Given the description of an element on the screen output the (x, y) to click on. 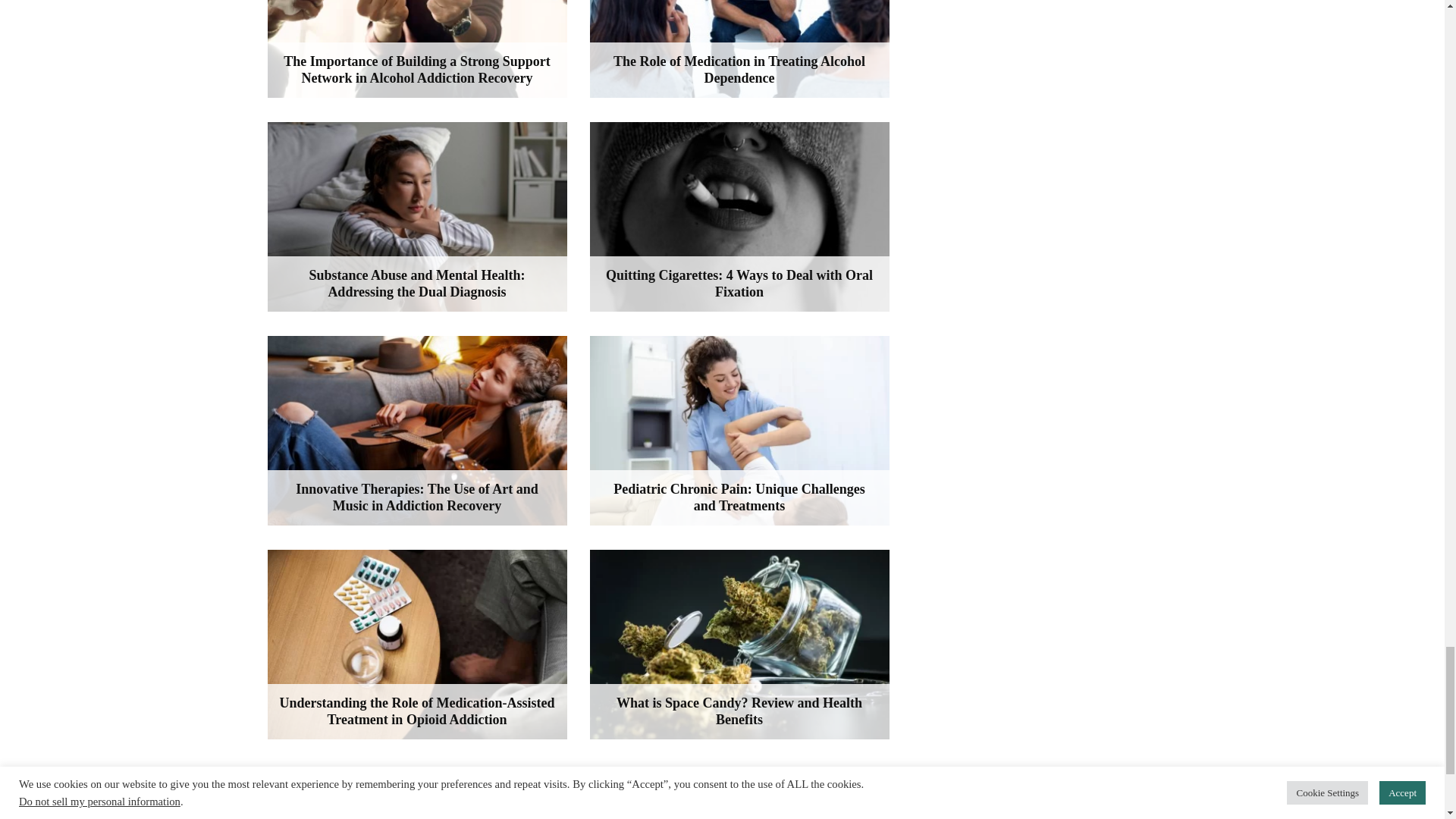
The Role of Medication in Treating Alcohol Dependence (739, 48)
Quitting Cigarettes: 4 Ways to Deal with Oral Fixation (739, 217)
